Given the description of an element on the screen output the (x, y) to click on. 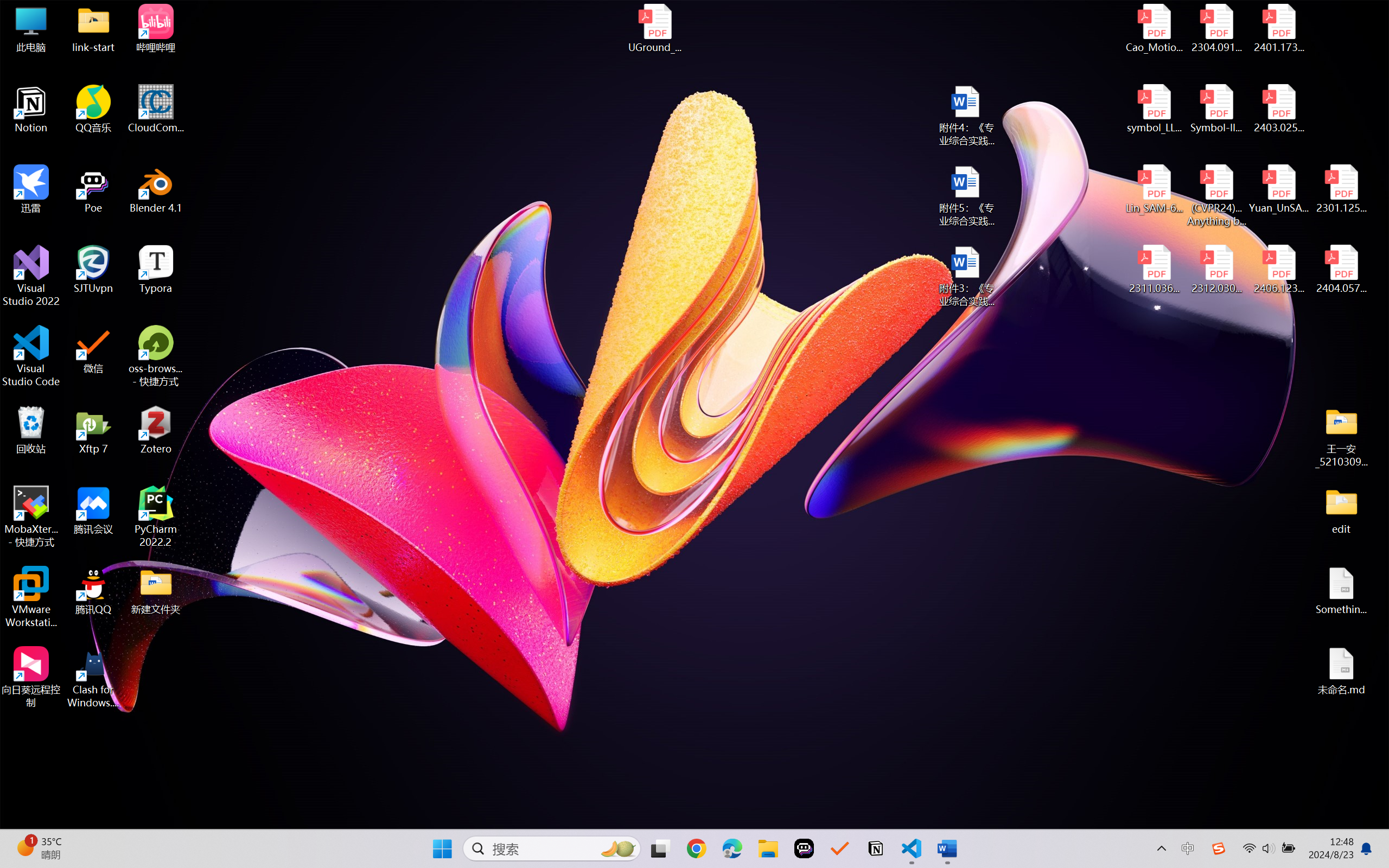
Visual Studio Code (31, 355)
Typora (156, 269)
CloudCompare (156, 109)
Visual Studio 2022 (31, 276)
Xftp 7 (93, 430)
Something.md (1340, 591)
